Given the description of an element on the screen output the (x, y) to click on. 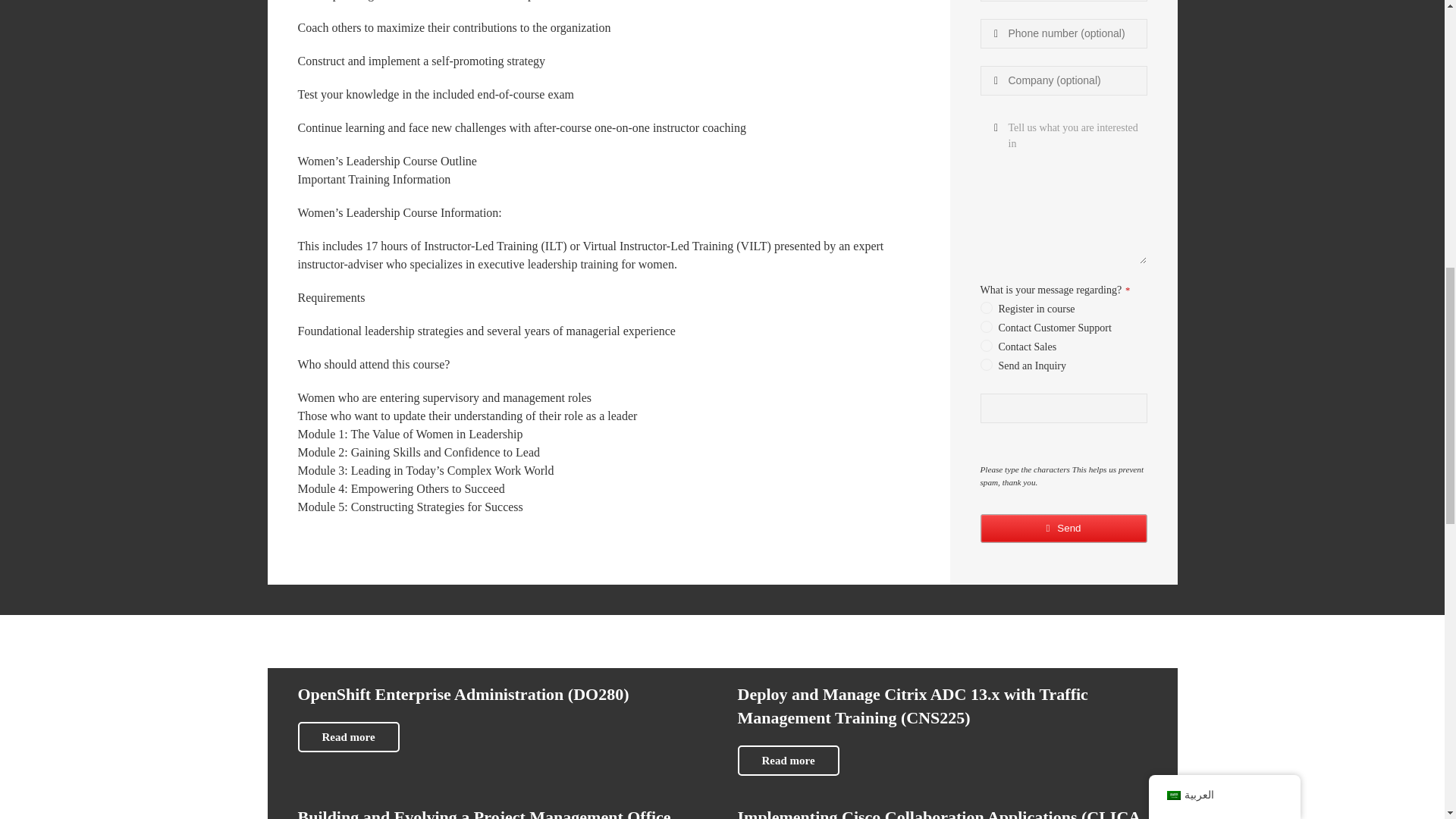
Send an Inquiry (985, 182)
Contact Sales (985, 162)
Register in course (985, 124)
Contact Customer Support (985, 143)
Send (1063, 345)
Read more (787, 760)
Read more (347, 736)
